Given the description of an element on the screen output the (x, y) to click on. 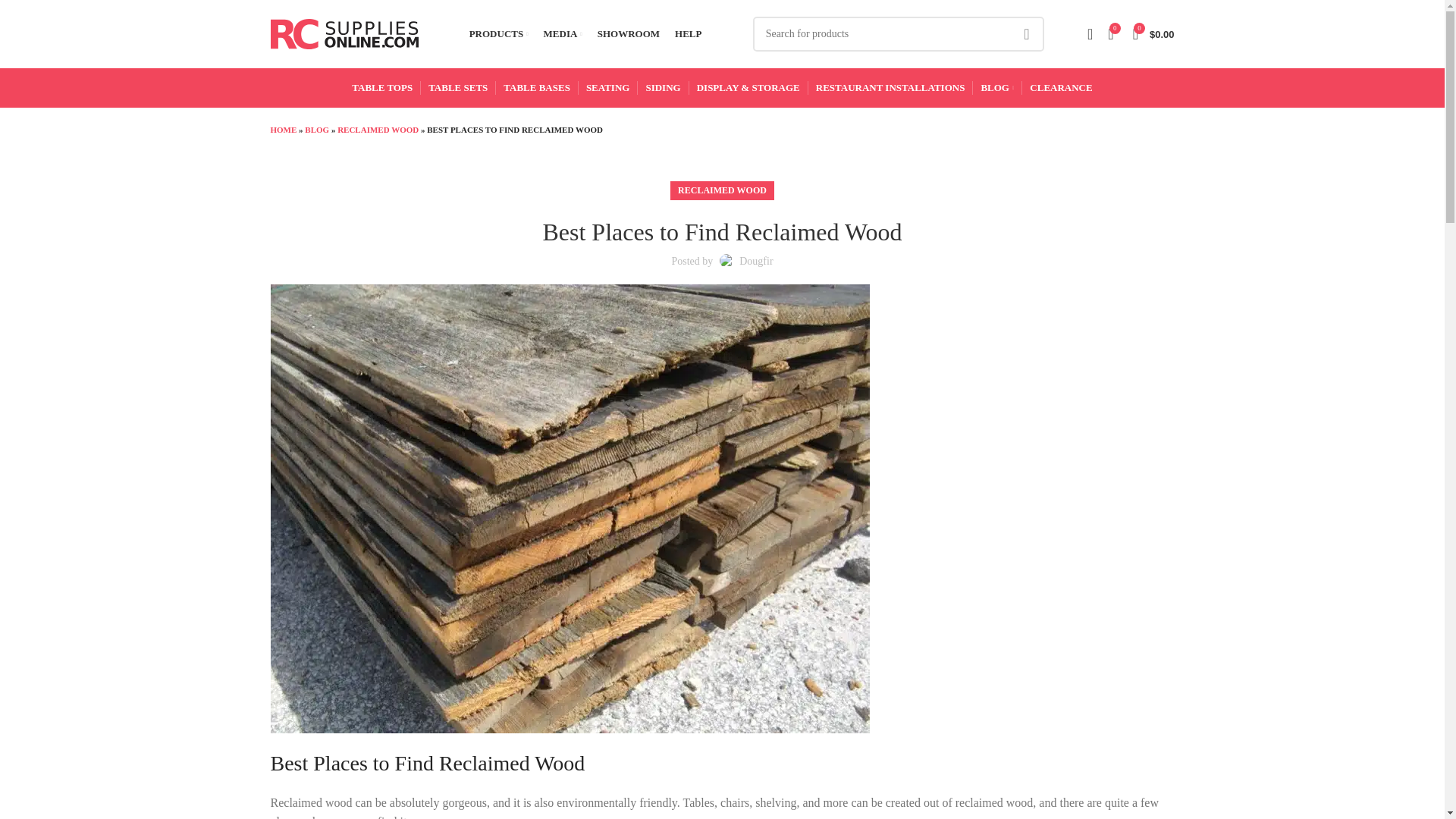
SHOWROOM (627, 33)
PRODUCTS (498, 33)
MEDIA (562, 33)
Shopping cart (1153, 33)
SEARCH (1026, 33)
Search for products (897, 33)
TABLE TOPS (382, 87)
